Given the description of an element on the screen output the (x, y) to click on. 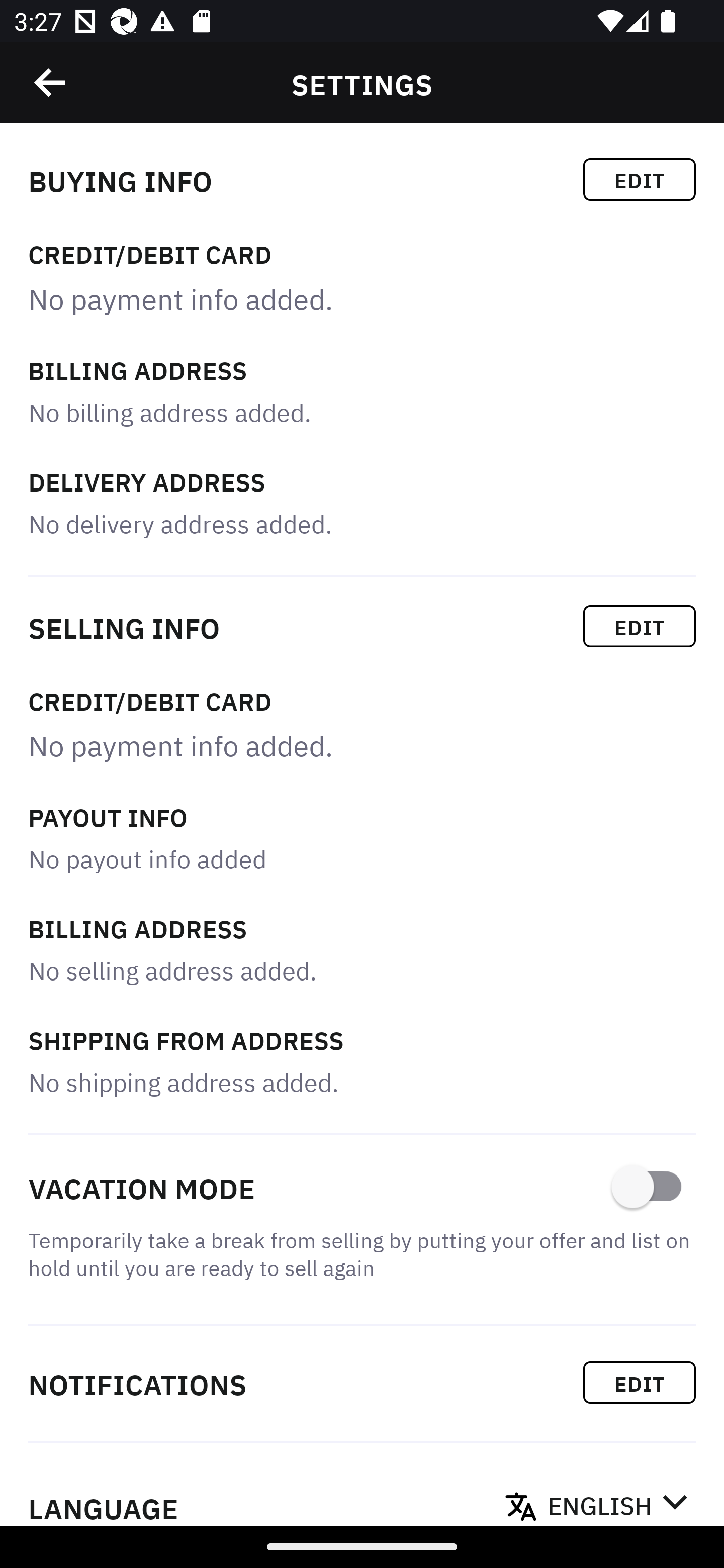
 (50, 83)
EDIT (639, 179)
EDIT (639, 626)
EDIT (639, 1382)
ENGLISH  (617, 1499)
